Given the description of an element on the screen output the (x, y) to click on. 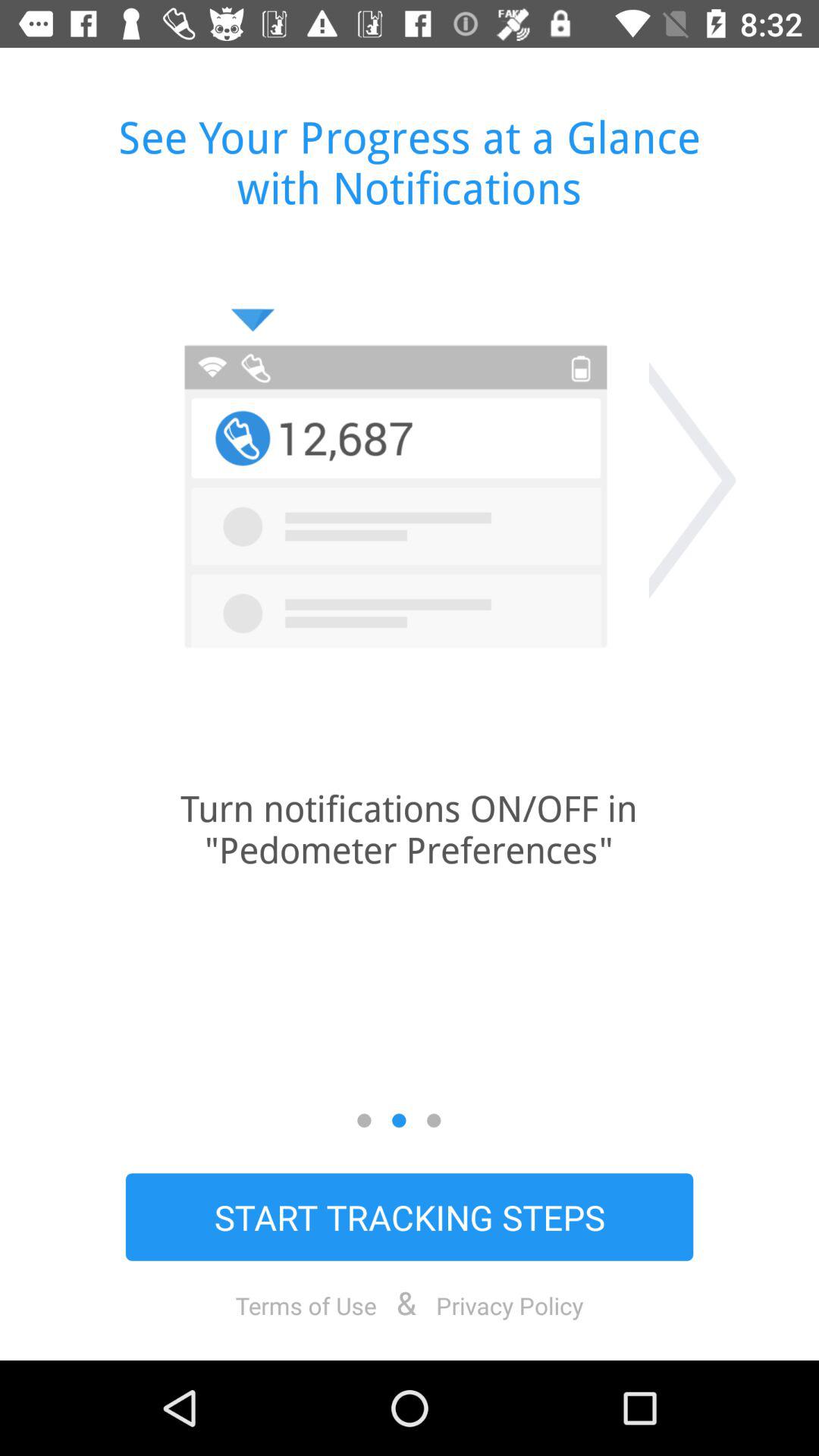
swipe until the privacy policy item (509, 1305)
